Given the description of an element on the screen output the (x, y) to click on. 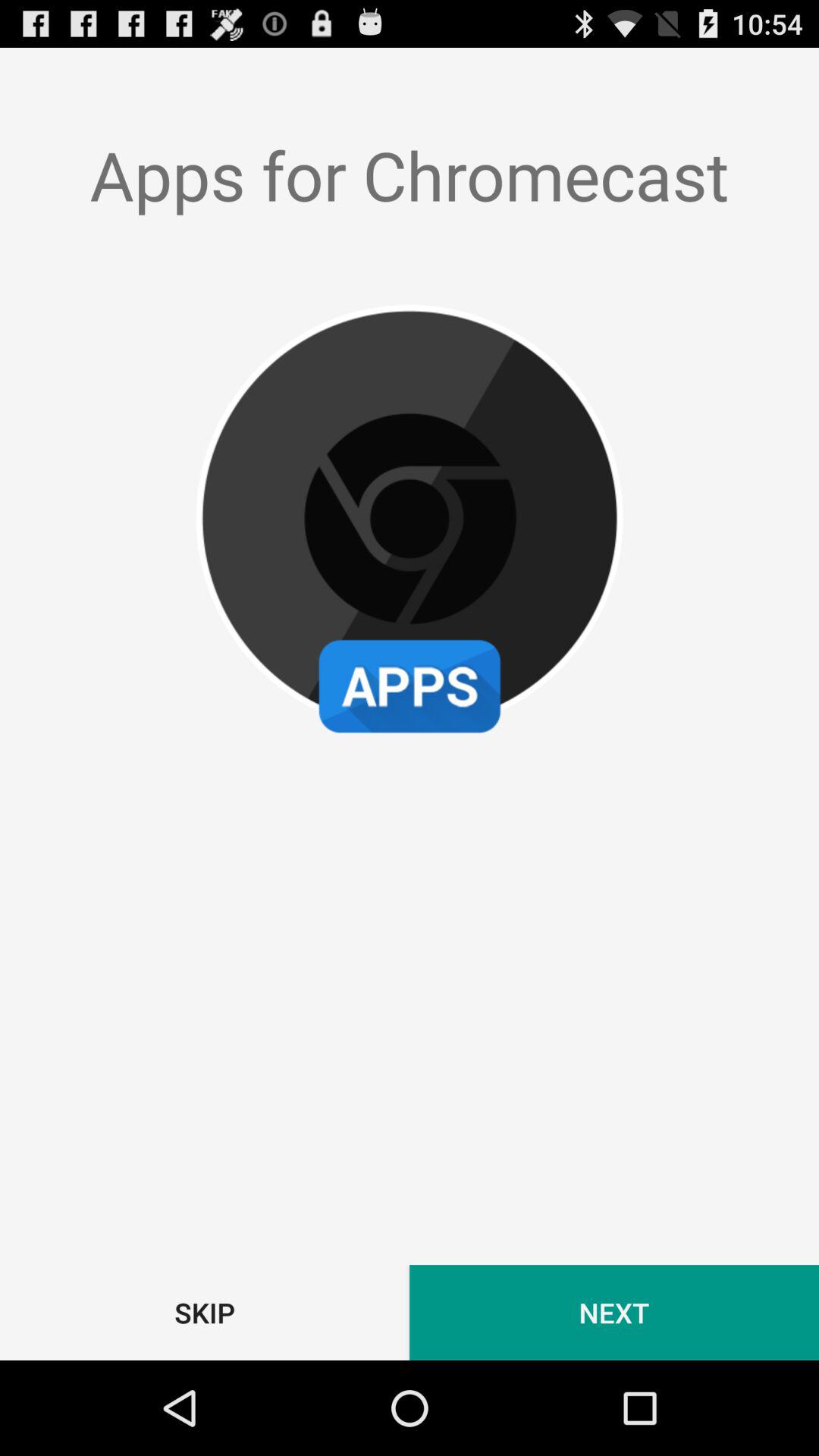
click icon at the bottom left corner (204, 1312)
